Given the description of an element on the screen output the (x, y) to click on. 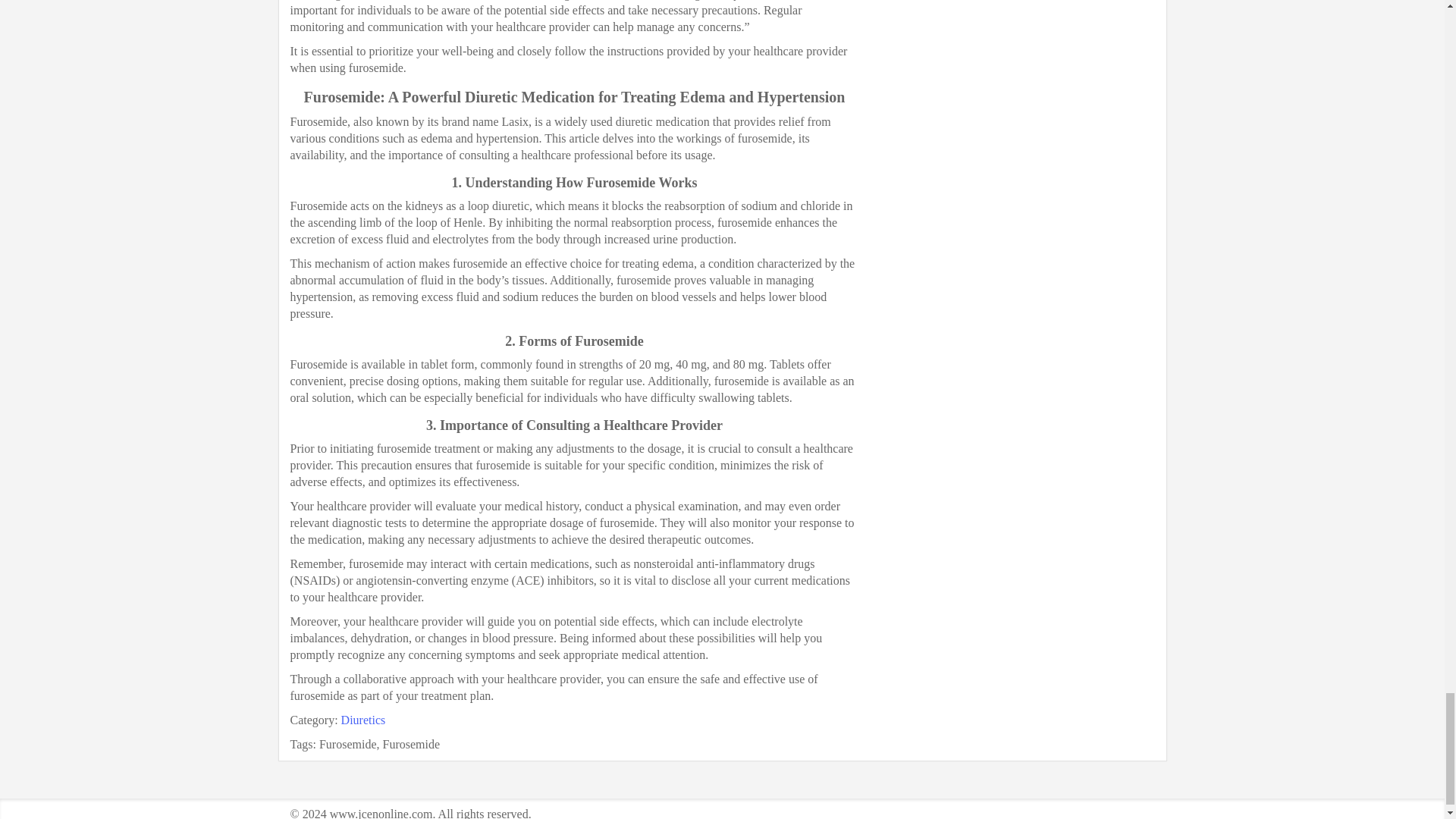
Diuretics (362, 719)
